Given the description of an element on the screen output the (x, y) to click on. 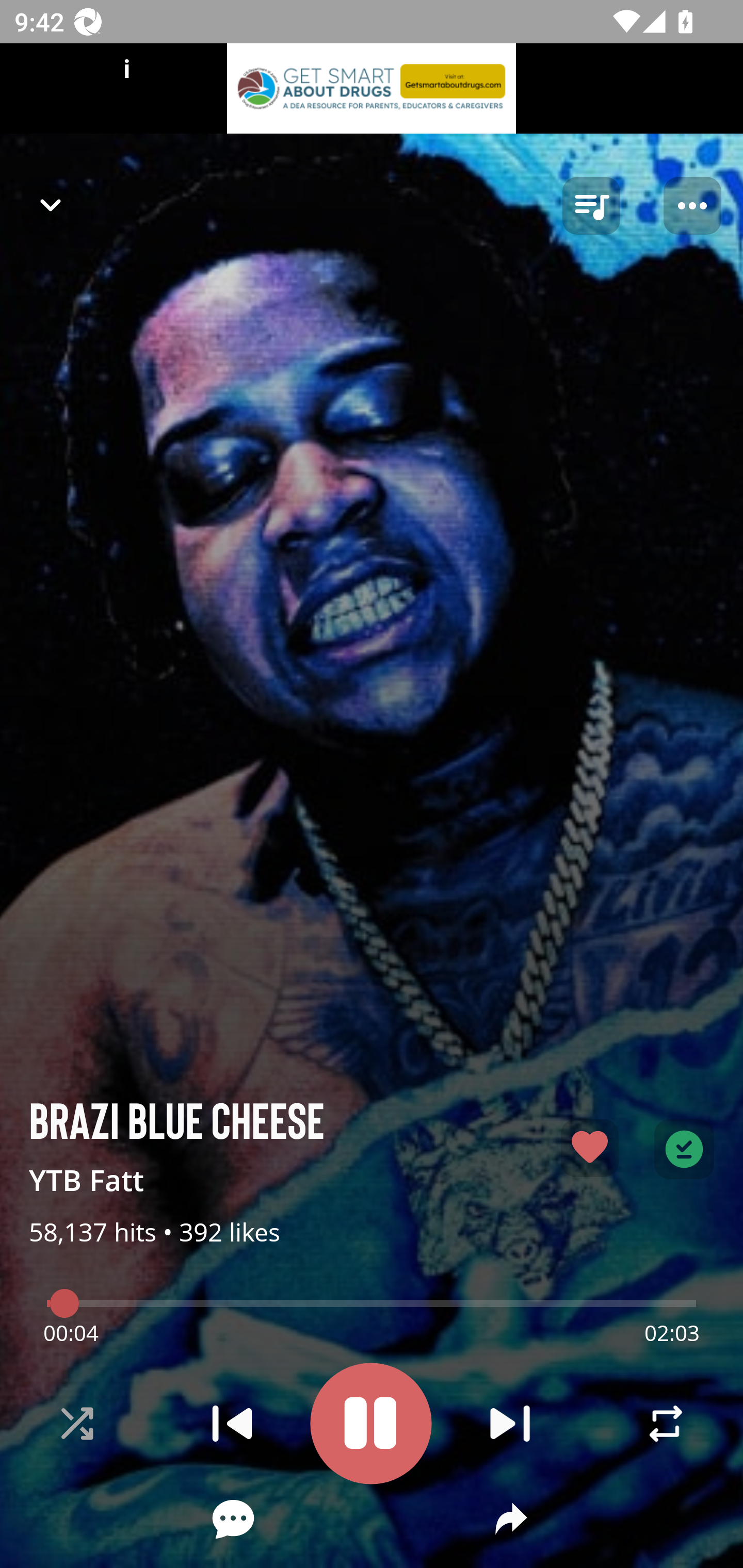
Navigate up (50, 205)
queue (590, 206)
Player options (692, 206)
